Given the description of an element on the screen output the (x, y) to click on. 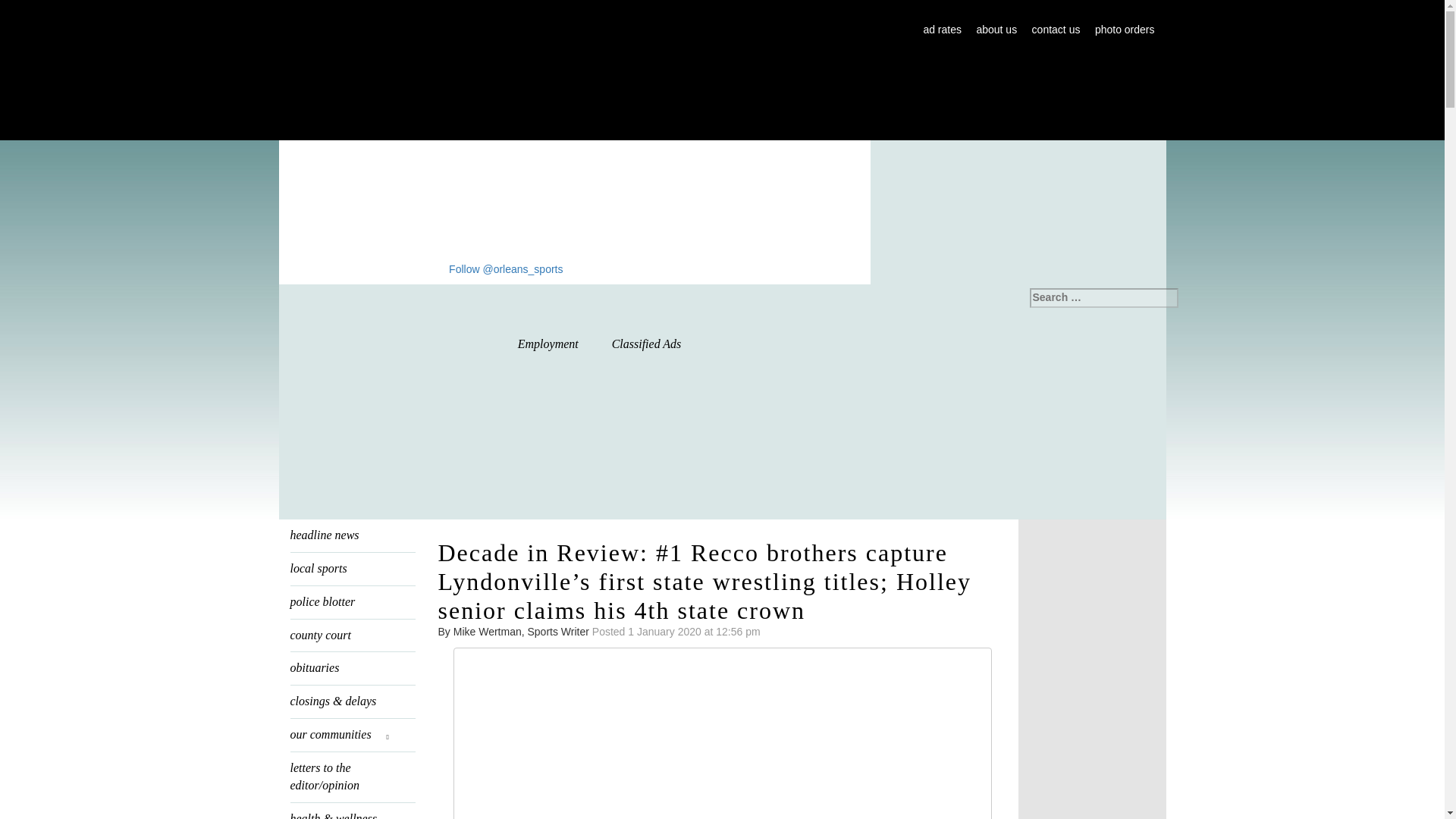
photo orders (1124, 29)
Find Orleans Hub on Facebook (433, 268)
Classified Ads (646, 344)
Search (22, 9)
contact us (1056, 29)
our communities (351, 735)
Contact with Orleans Hub (1056, 29)
local sports (351, 568)
county court (351, 635)
Orleans Hub Photo Orders (1124, 29)
about us (995, 29)
obituaries (351, 667)
Search for: (1103, 297)
Orleans Hub Ad Rates (941, 29)
Employment (548, 344)
